Given the description of an element on the screen output the (x, y) to click on. 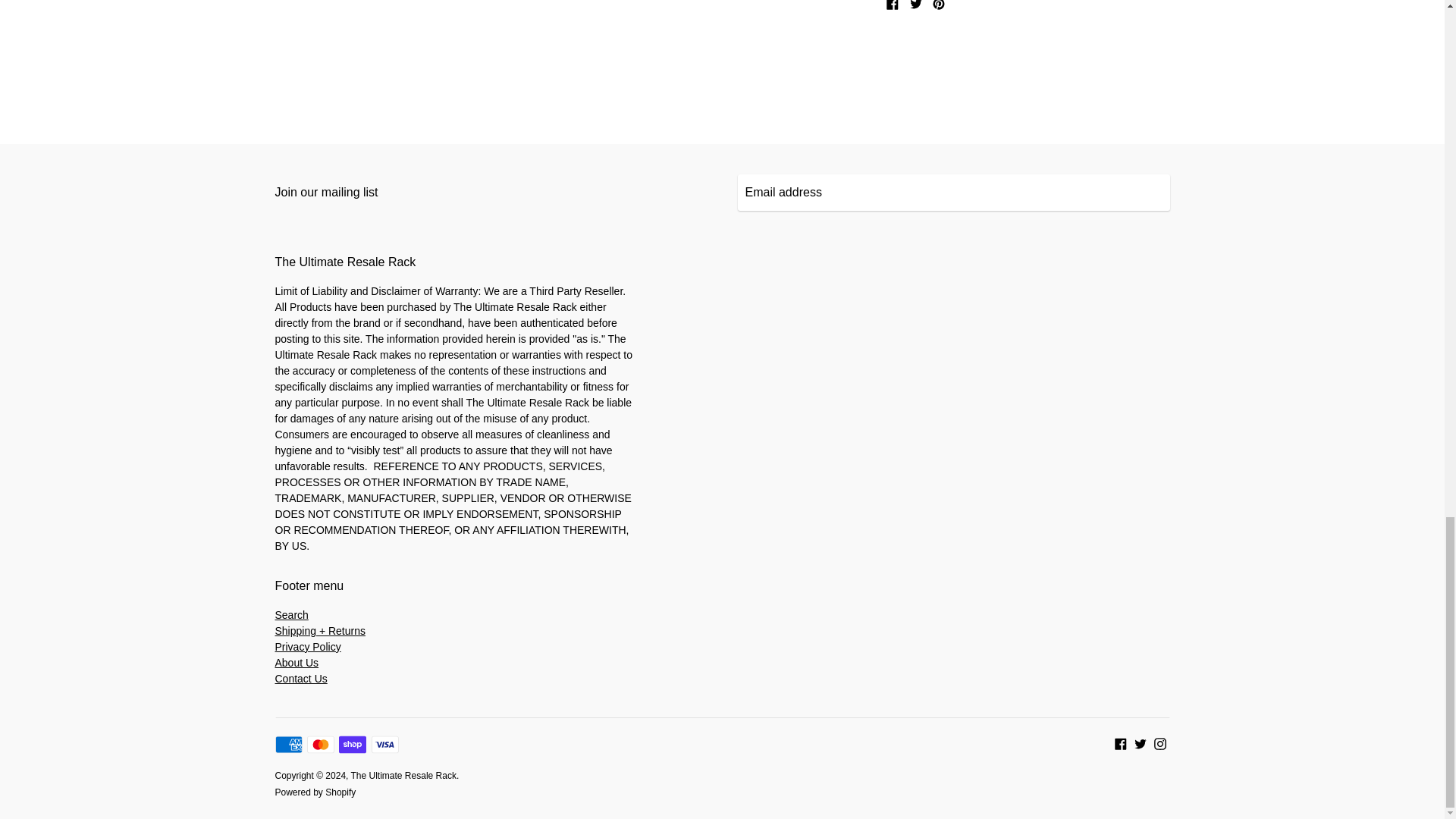
Visa (384, 744)
The Ultimate Resale Rack on Twitter (1140, 742)
The Ultimate Resale Rack on Facebook (1120, 742)
The Ultimate Resale Rack on Instagram (1160, 742)
Shop Pay (352, 744)
American Express (288, 744)
Mastercard (320, 744)
